Given the description of an element on the screen output the (x, y) to click on. 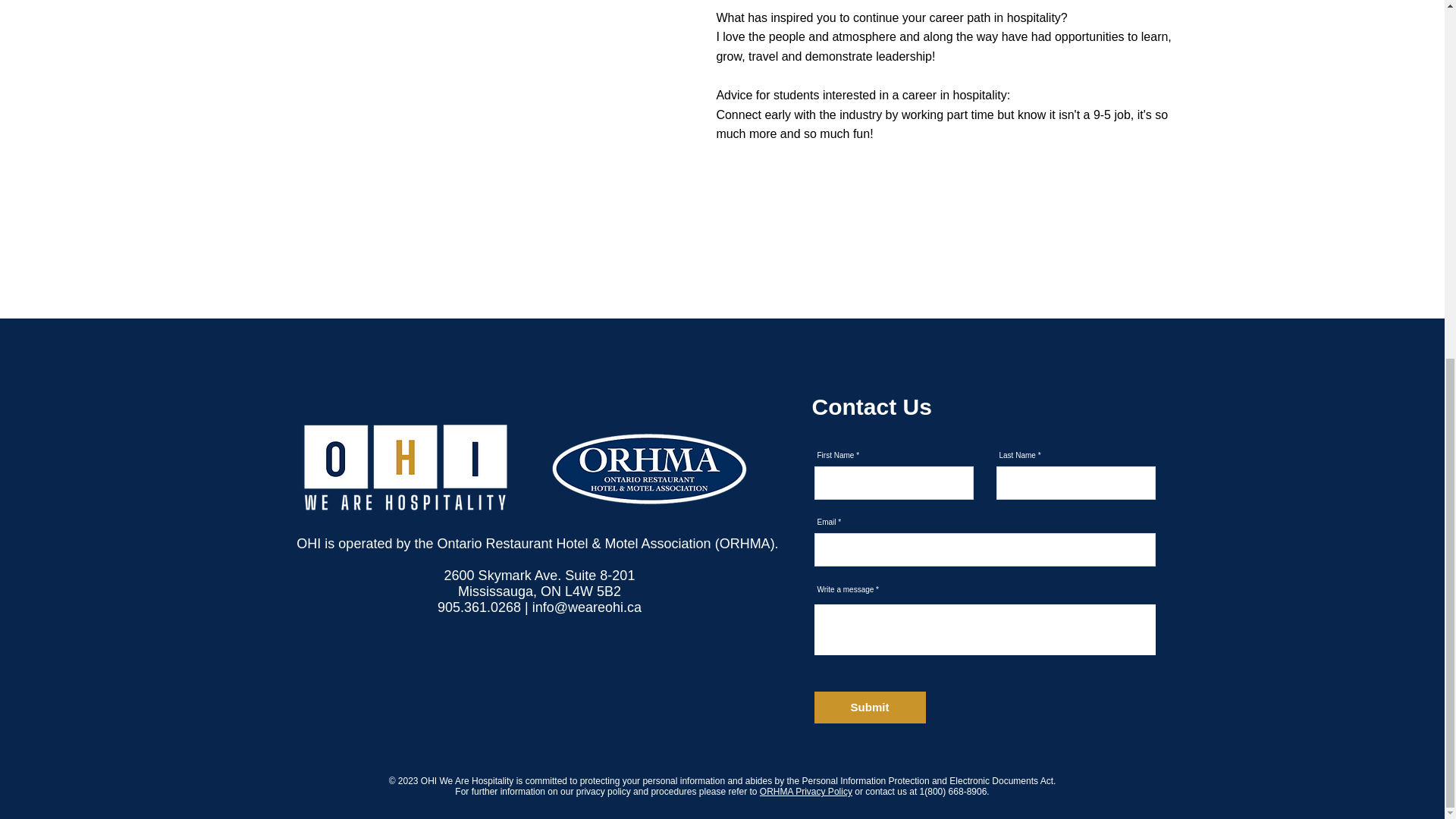
Submit (869, 707)
ORHMA Privacy Policy (805, 791)
